Given the description of an element on the screen output the (x, y) to click on. 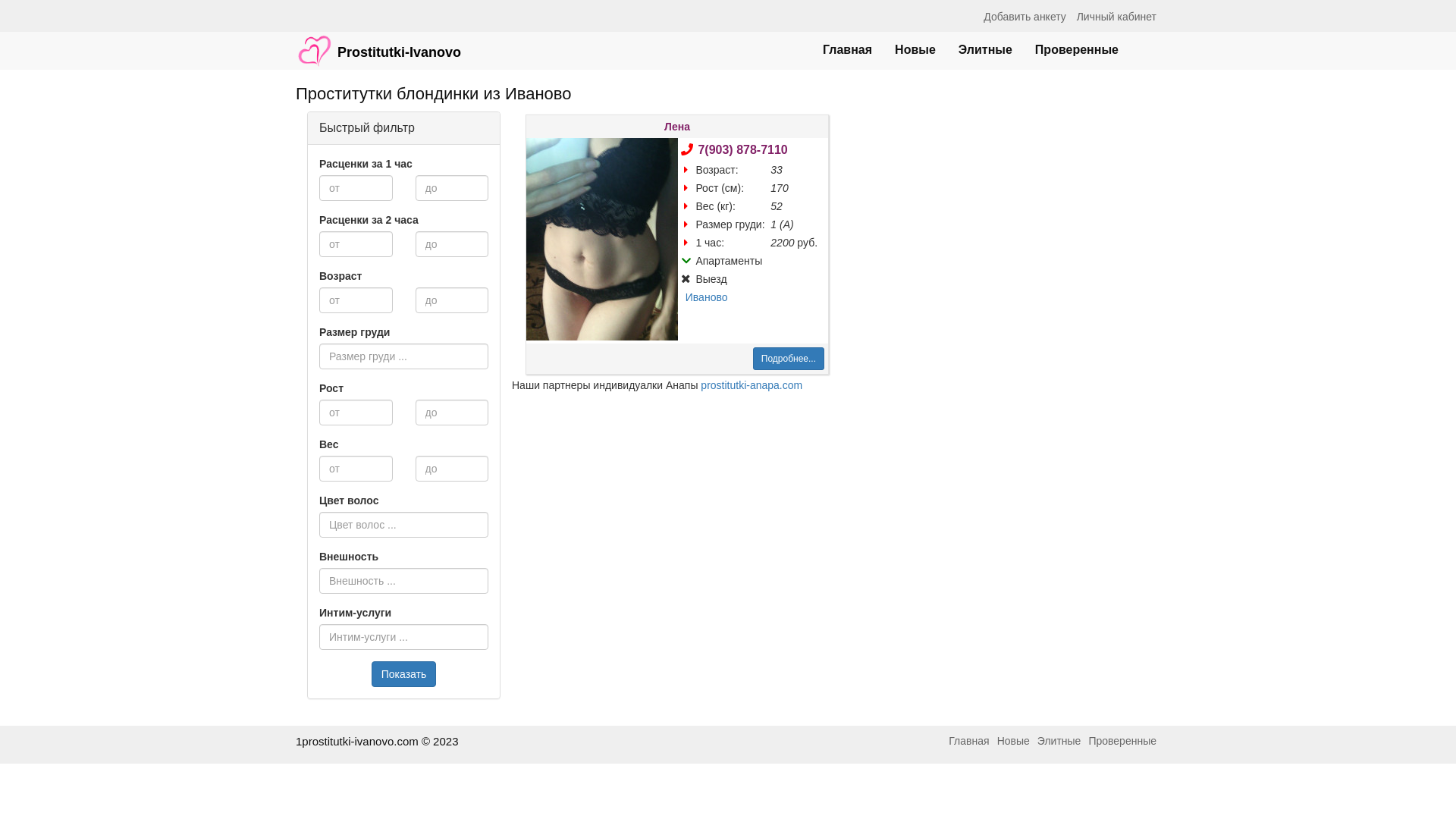
Prostitutki-Ivanovo Element type: text (378, 43)
prostitutki-anapa.com Element type: text (751, 385)
